Given the description of an element on the screen output the (x, y) to click on. 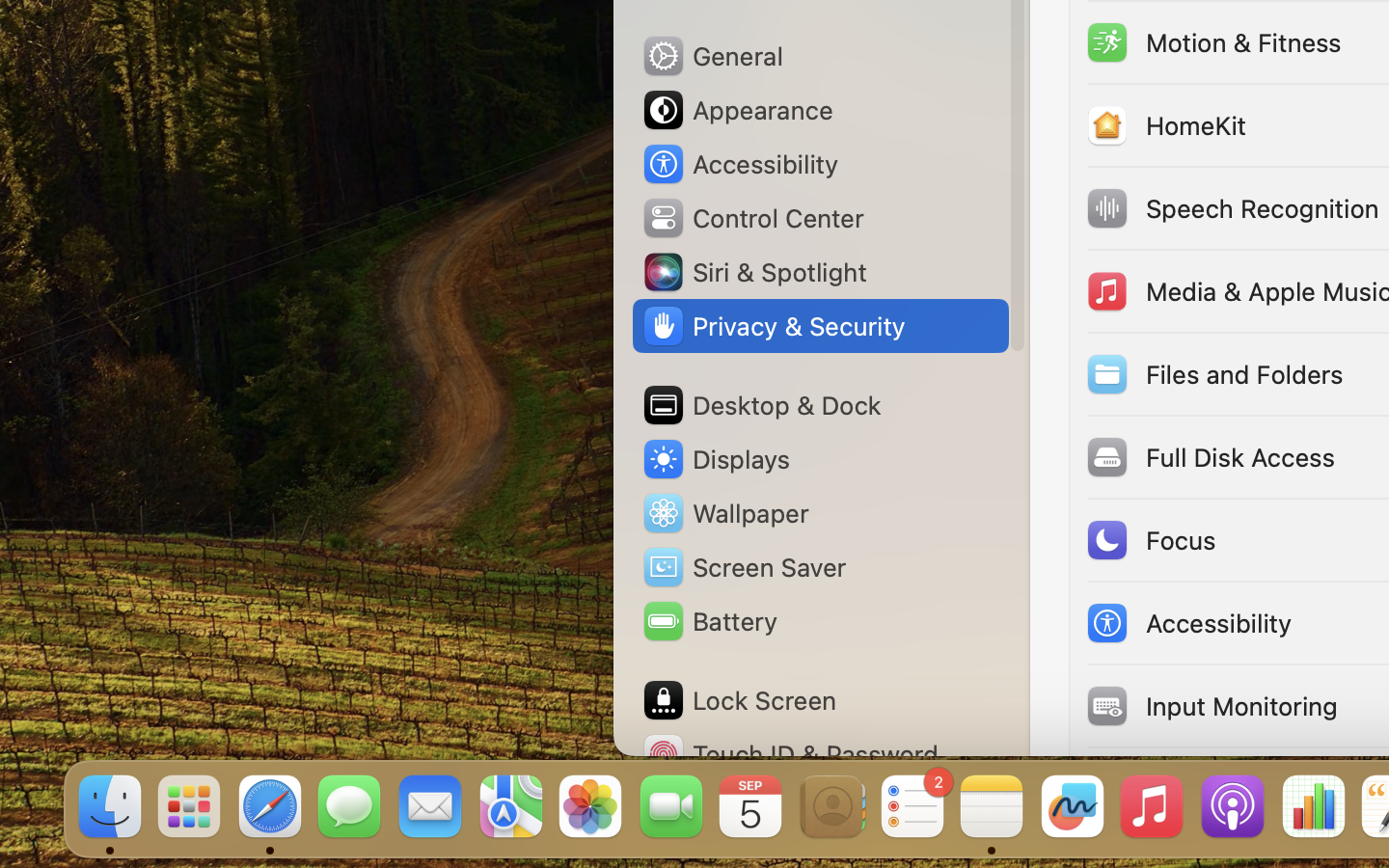
General Element type: AXStaticText (711, 55)
Siri & Spotlight Element type: AXStaticText (753, 271)
Wallpaper Element type: AXStaticText (724, 512)
